Given the description of an element on the screen output the (x, y) to click on. 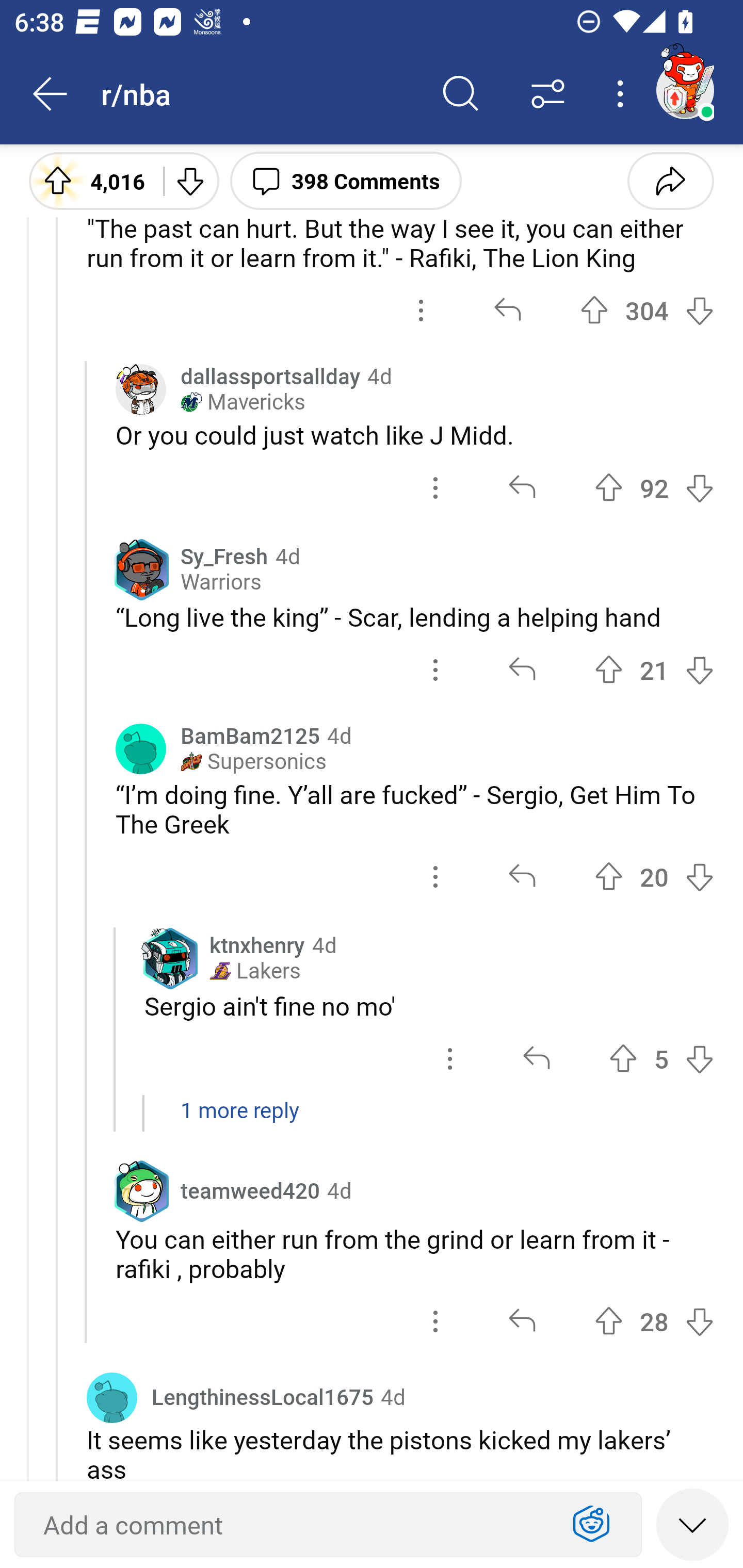
Back (50, 93)
TestAppium002 account (685, 90)
Search comments (460, 93)
Sort comments (547, 93)
More options (623, 93)
r/nba (259, 92)
Upvote 4,016 (88, 180)
Downvote (189, 180)
398 Comments (346, 180)
Share (670, 180)
options (420, 310)
Upvote 304 304 votes Downvote (647, 310)
Custom avatar (140, 388)
￼ Mavericks (243, 400)
Or you could just watch like J Midd. (414, 434)
options (435, 487)
Upvote 92 92 votes Downvote (654, 487)
Warriors (221, 581)
options (435, 669)
Upvote 21 21 votes Downvote (654, 669)
Avatar (140, 749)
￼ Supersonics (253, 761)
options (435, 876)
Upvote 20 20 votes Downvote (654, 876)
￼ Lakers (254, 970)
Sergio ain't fine no mo' (429, 1005)
options (449, 1058)
Upvote 5 5 votes Downvote (661, 1058)
1 more reply (371, 1120)
options (435, 1321)
Upvote 28 28 votes Downvote (654, 1321)
Avatar (111, 1397)
Speed read (692, 1524)
Add a comment (291, 1524)
Show Expressions (590, 1524)
